Given the description of an element on the screen output the (x, y) to click on. 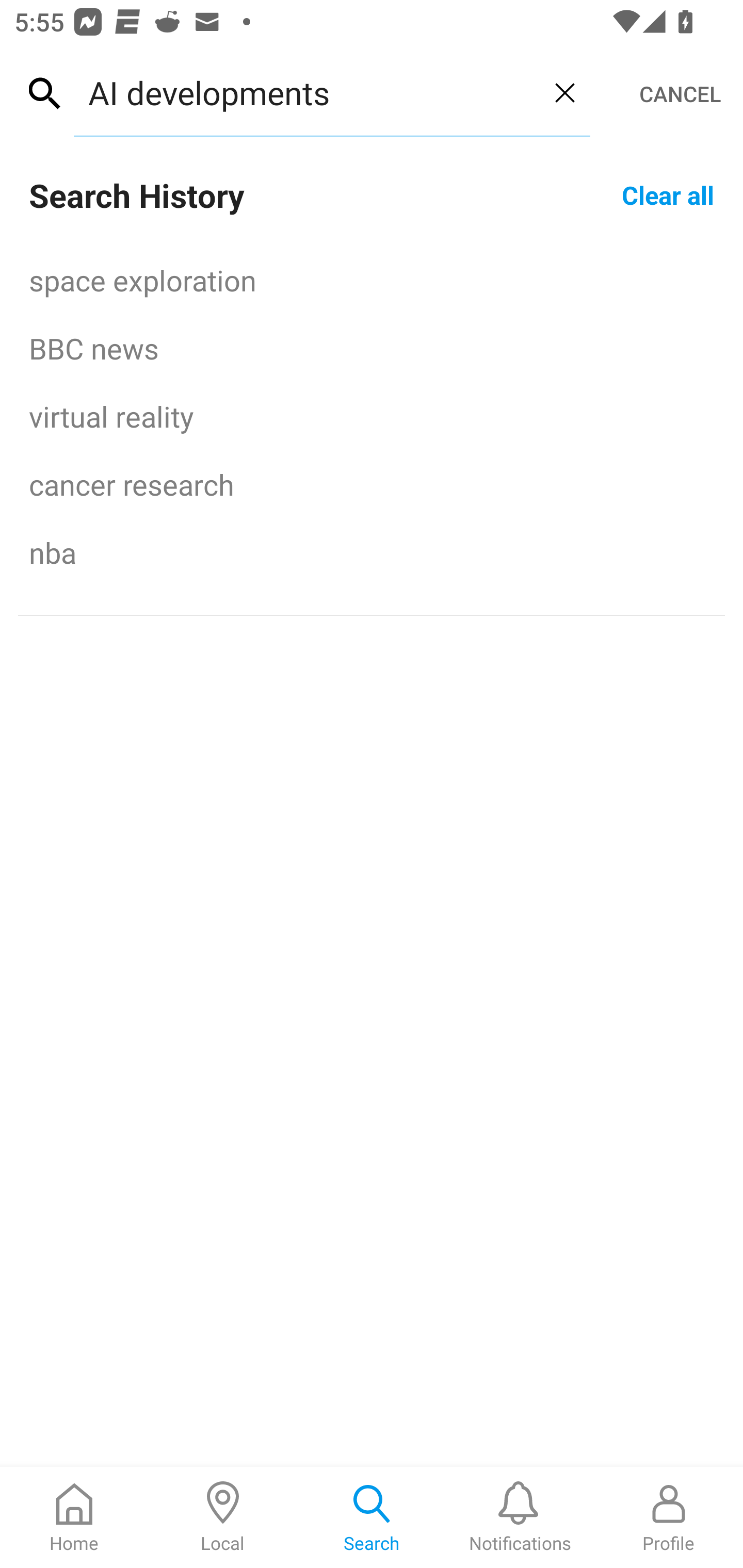
Clear query (564, 92)
CANCEL (680, 93)
AI developments (306, 92)
Clear all (667, 194)
space exploration (371, 279)
BBC news (371, 347)
virtual reality (371, 416)
cancer research (371, 484)
nba (371, 552)
Home (74, 1517)
Local (222, 1517)
Notifications (519, 1517)
Profile (668, 1517)
